Given the description of an element on the screen output the (x, y) to click on. 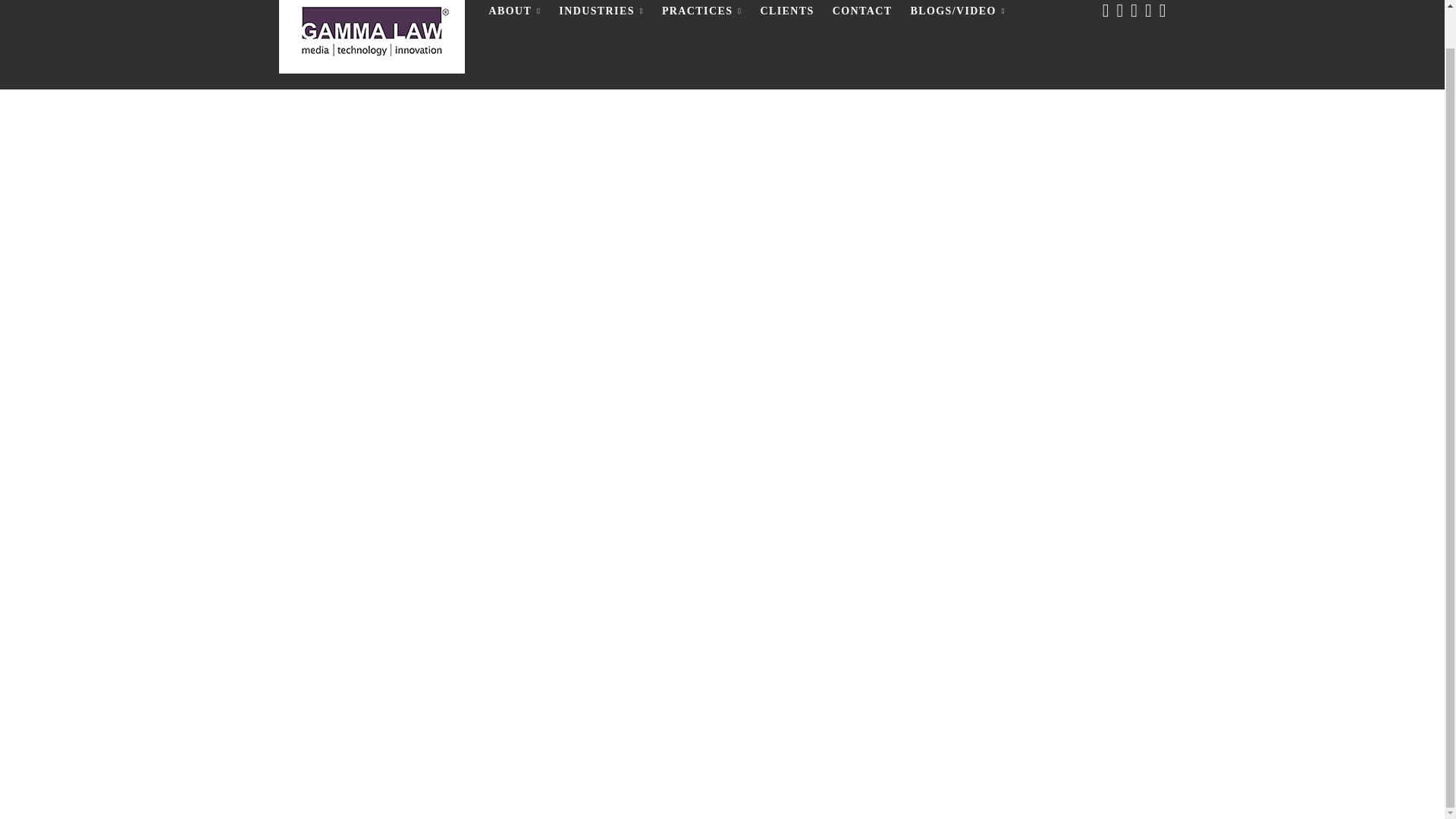
Our Expertise (601, 18)
Gamma Law (371, 38)
